Given the description of an element on the screen output the (x, y) to click on. 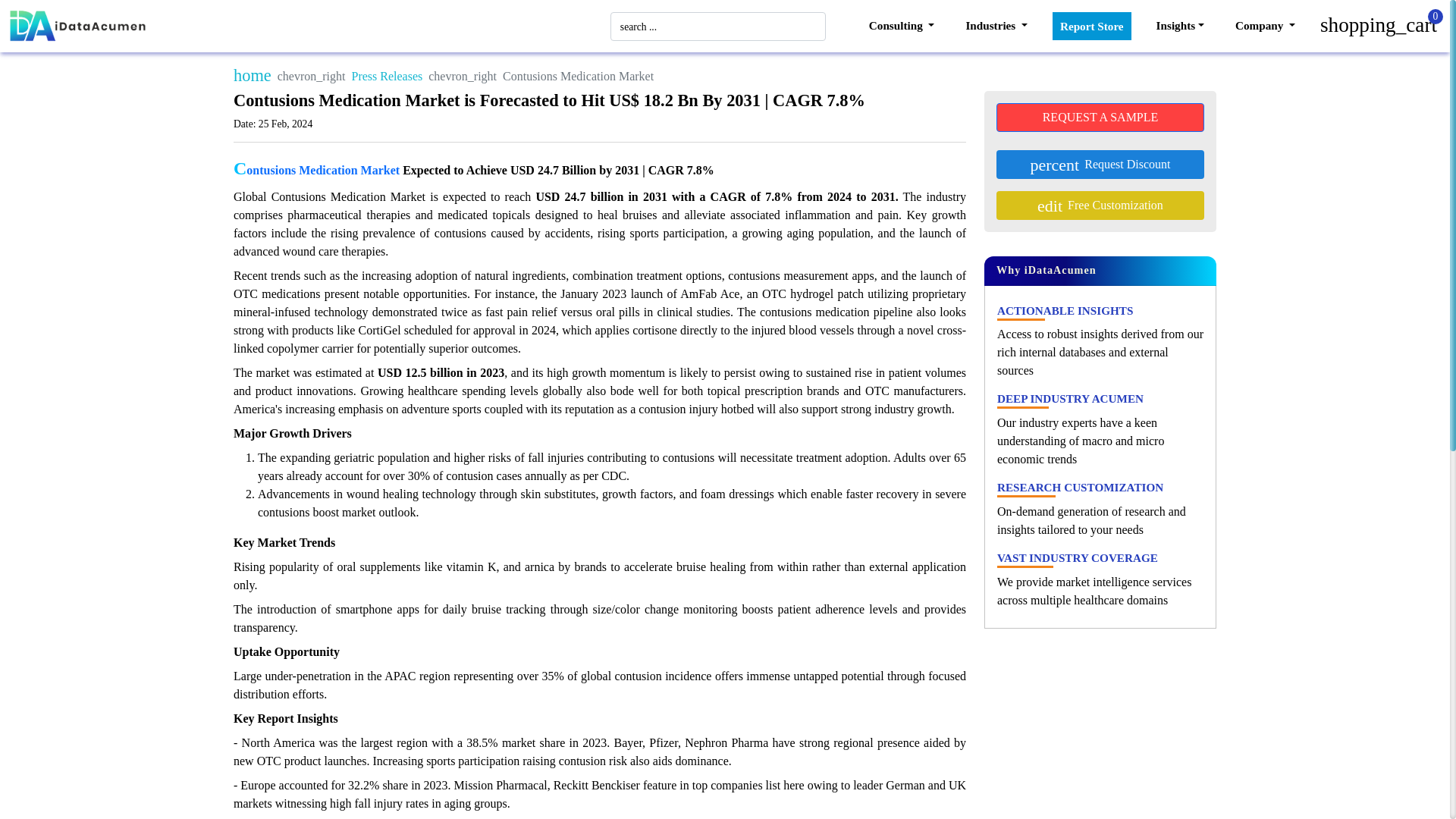
REQUEST A SAMPLE (1099, 117)
Consulting (901, 25)
percentRequest Discount (1099, 164)
home (251, 75)
Industries (996, 25)
Company (1264, 25)
Report Store (1091, 26)
Press Releases (387, 76)
editFree Customization (1099, 205)
Contusions Medication Market (315, 169)
Insights (1179, 25)
